Given the description of an element on the screen output the (x, y) to click on. 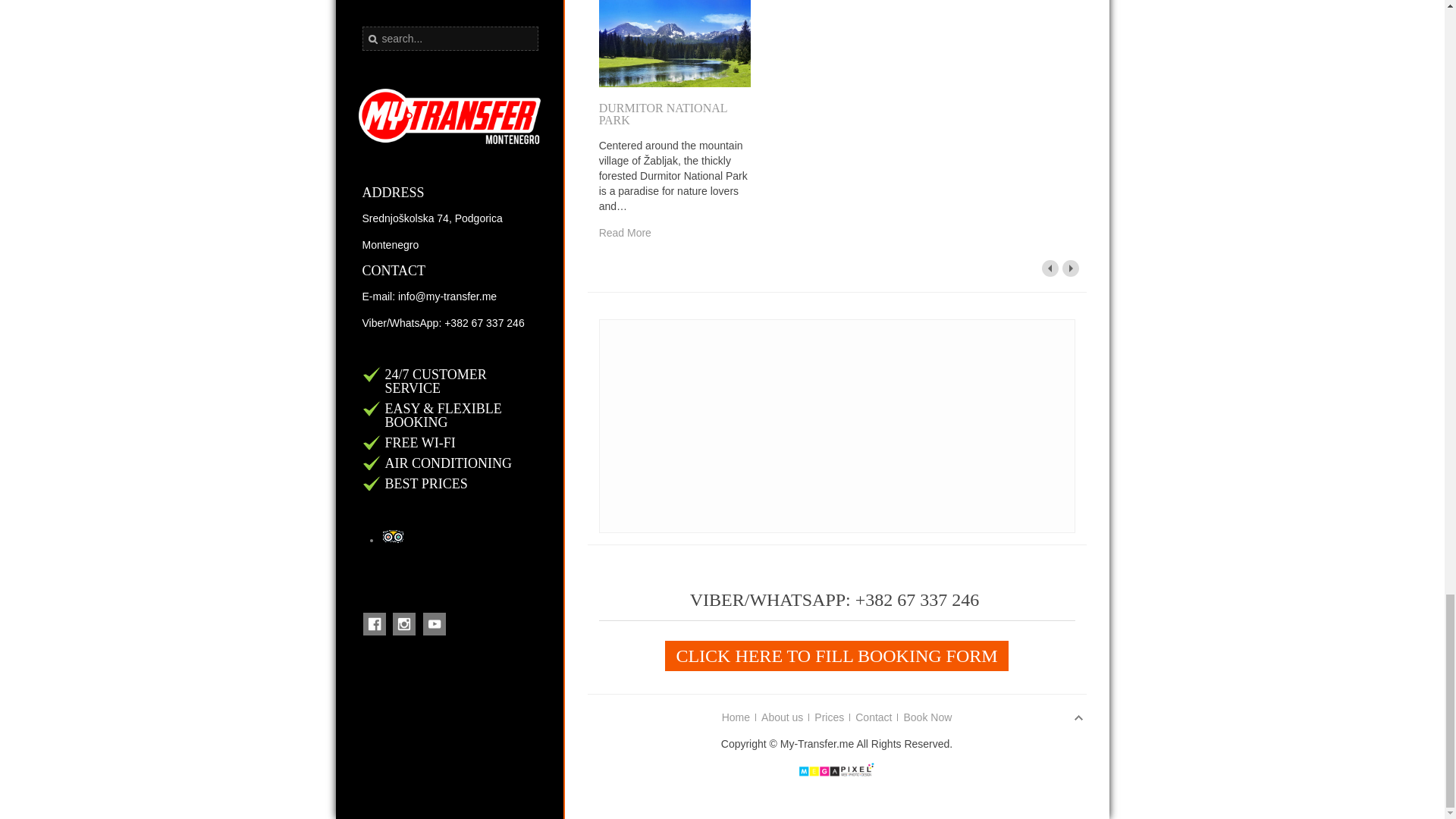
Read More (624, 232)
About us (782, 717)
Home (735, 717)
DURMITOR NATIONAL PARK (662, 113)
Book Now (927, 717)
Prices (828, 717)
CLICK HERE TO FILL BOOKING FORM (836, 655)
Contact (873, 717)
